Given the description of an element on the screen output the (x, y) to click on. 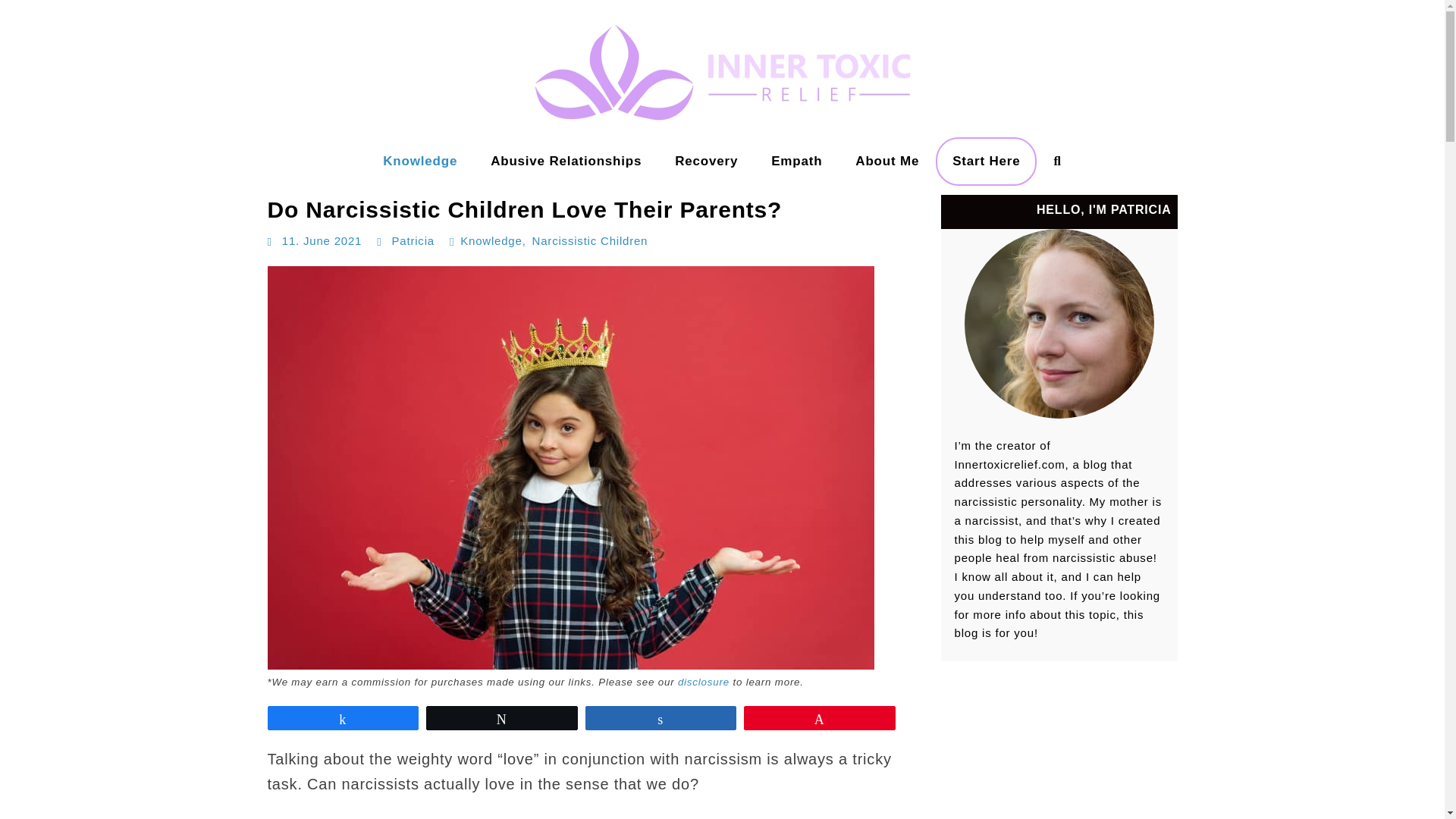
Abusive Relationships (566, 161)
Empath (796, 161)
Inner Toxic Relief (68, 176)
Knowledge (420, 161)
Recovery (706, 161)
